Given the description of an element on the screen output the (x, y) to click on. 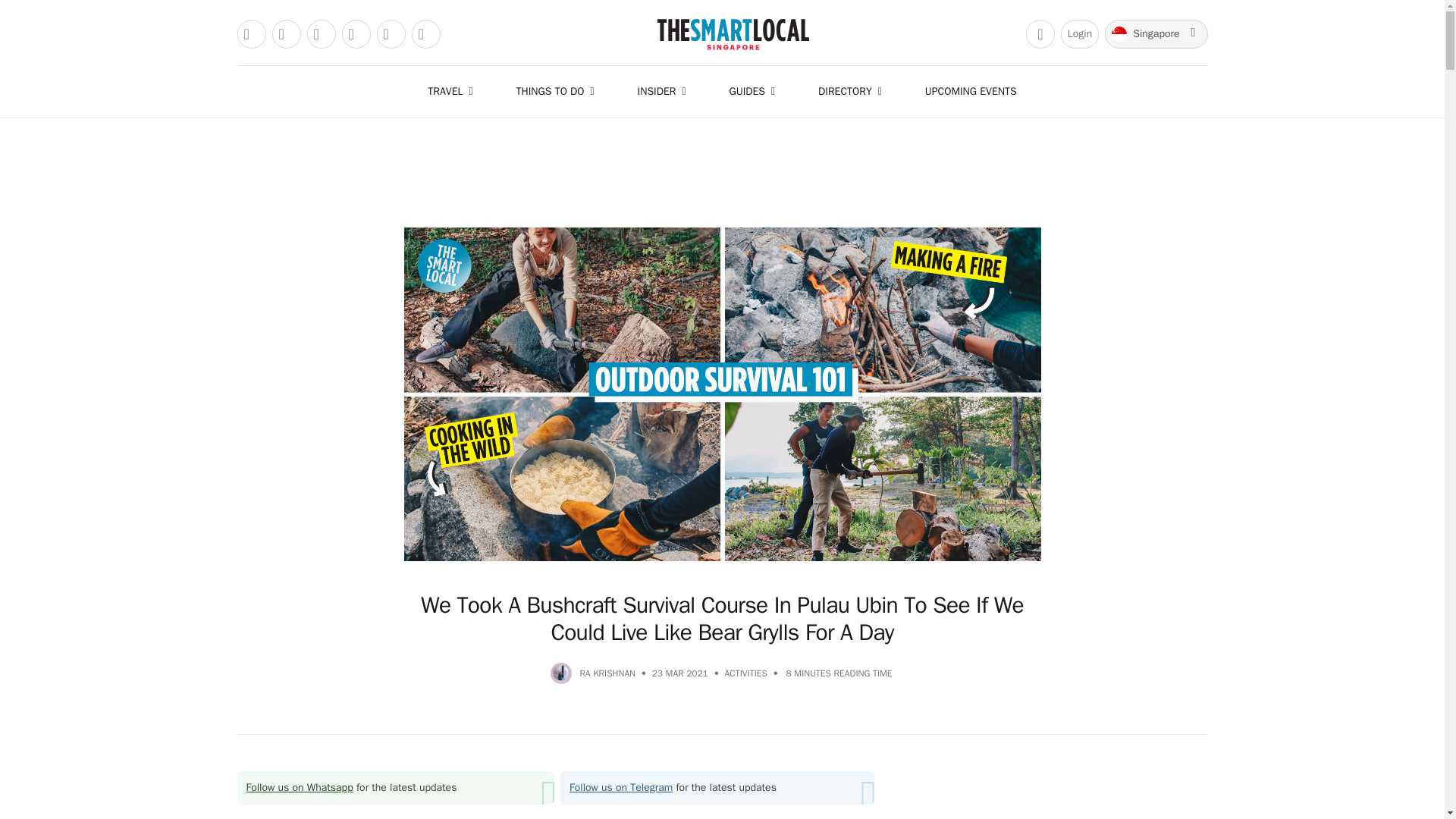
Login (1080, 33)
TRAVEL (453, 91)
Posts by Ra Krishnan (606, 673)
Singapore (1156, 33)
Open search popup (1040, 33)
